Given the description of an element on the screen output the (x, y) to click on. 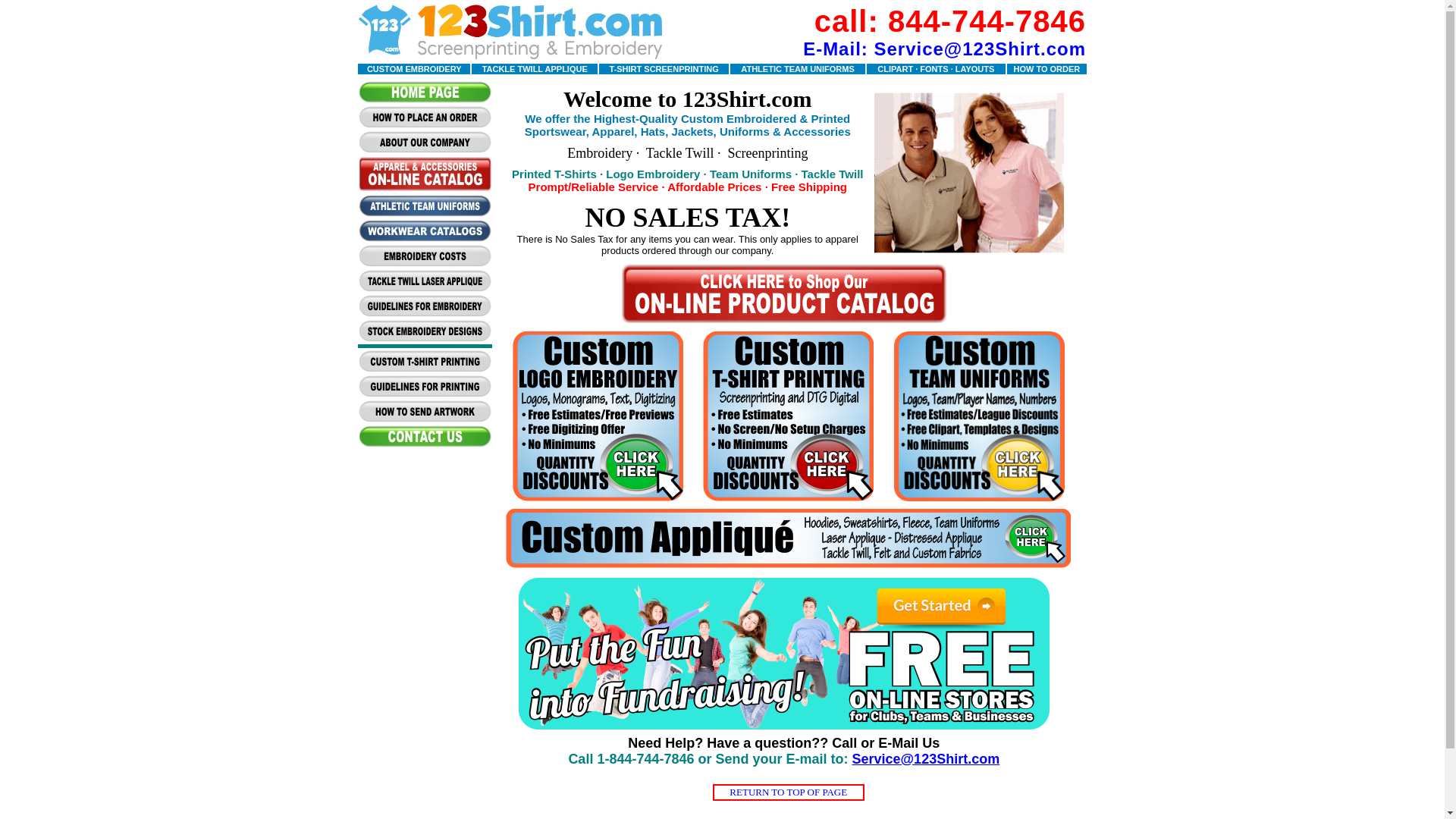
T-SHIRT SCREENPRINTING Element type: text (663, 67)
CUSTOM EMBROIDERY Element type: text (414, 67)
E-Mail: Service@123Shirt.com Element type: text (944, 48)
Service@123Shirt.com Element type: text (926, 758)
ATHLETIC TEAM UNIFORMS Element type: text (797, 67)
HOW TO ORDER Element type: text (1046, 67)
RETURN TO TOP OF PAGE Element type: text (788, 790)
TACKLE TWILL APPLIQUE Element type: text (534, 67)
